Given the description of an element on the screen output the (x, y) to click on. 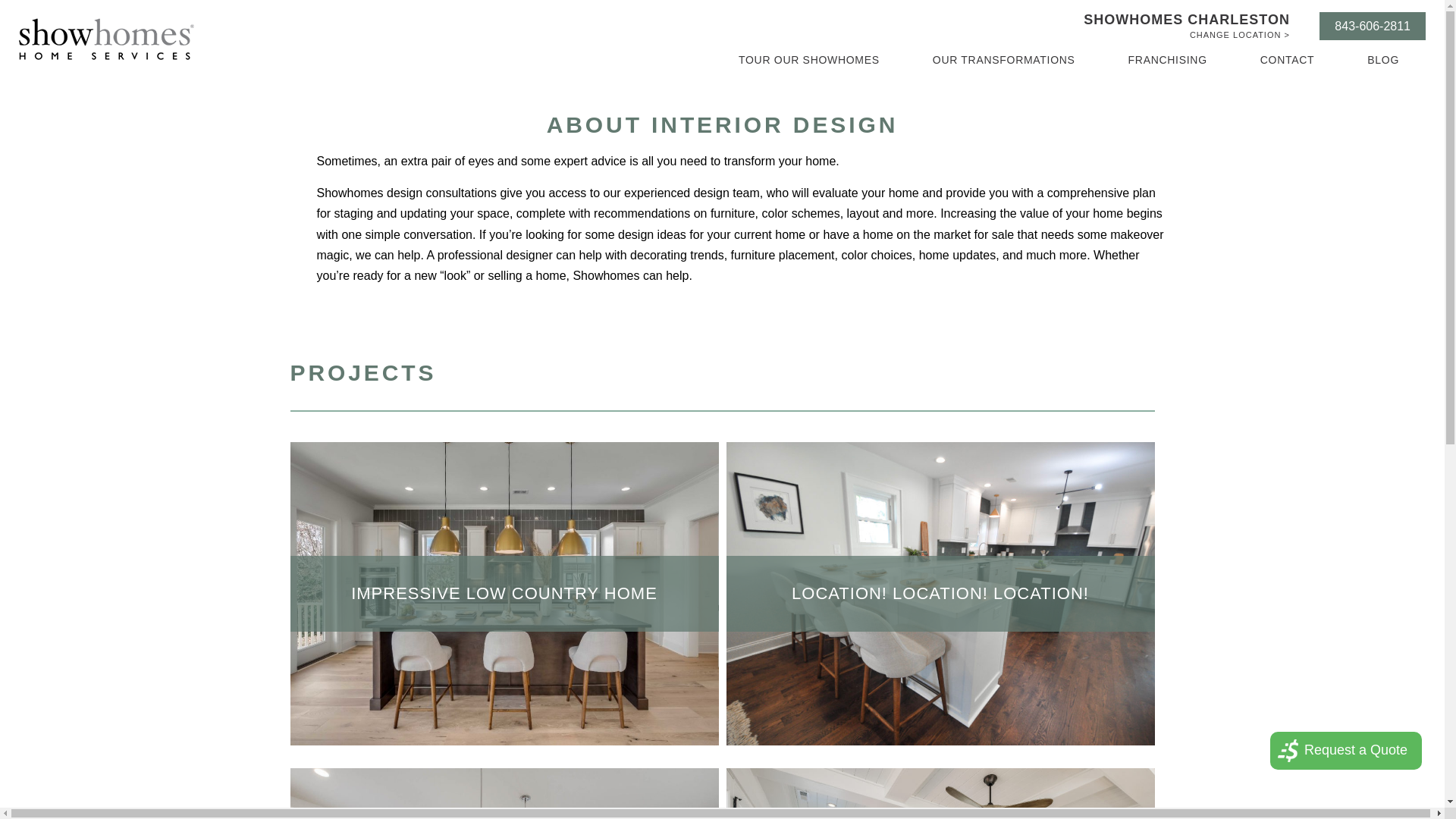
CONTACT (1287, 60)
TOUR OUR SHOWHOMES (808, 60)
FRANCHISING (1167, 60)
IMPRESSIVE LOW COUNTRY HOME (504, 592)
843-606-2811 (1372, 26)
OUR TRANSFORMATIONS (1004, 60)
BLOG (1383, 60)
LOCATION! LOCATION! LOCATION! (940, 592)
